Given the description of an element on the screen output the (x, y) to click on. 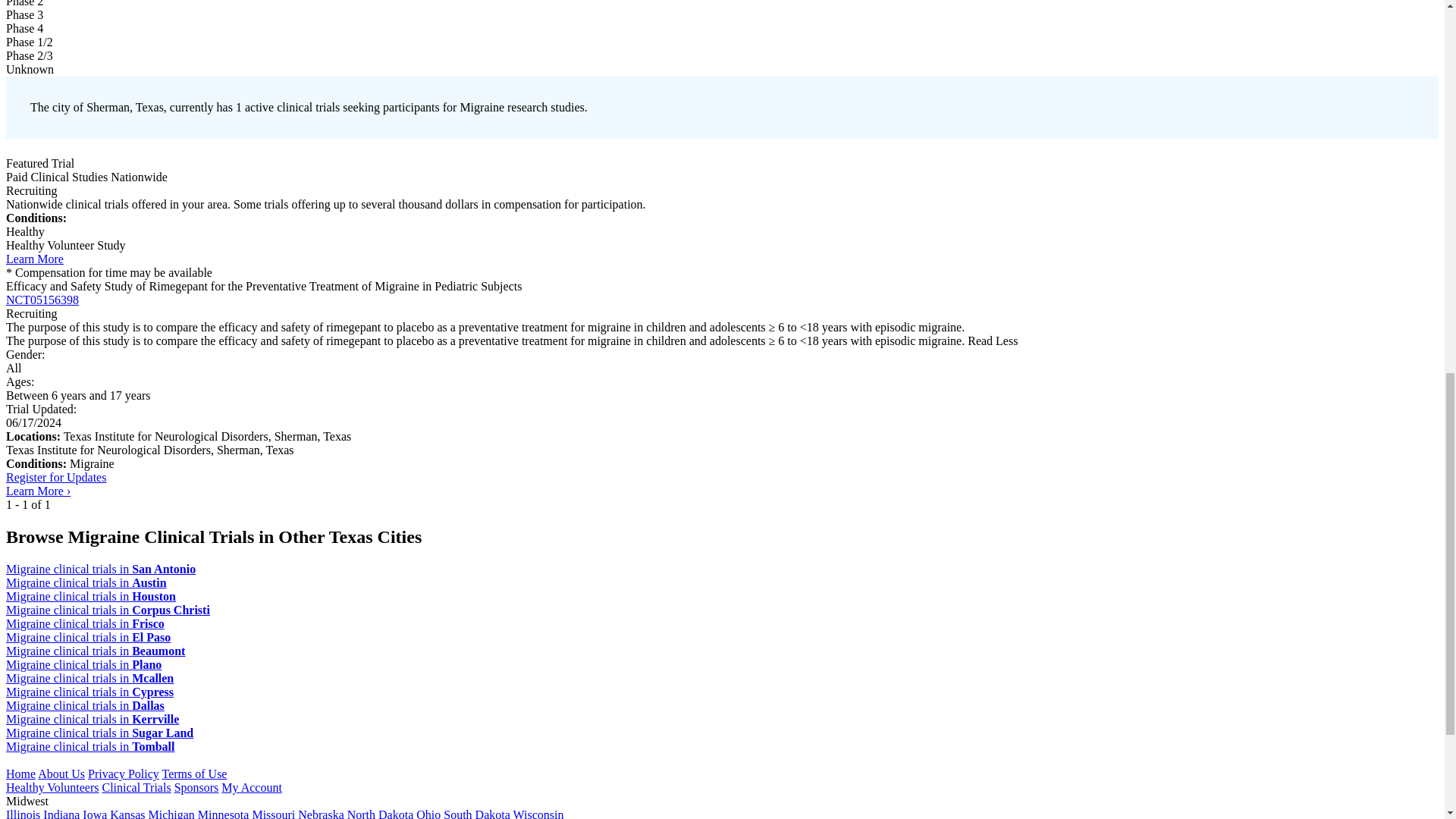
Register for Updates (55, 477)
Learn More (34, 258)
Migraine clinical trials in Corpus Christi (107, 609)
NCT05156398 (41, 299)
Migraine clinical trials in Frisco (84, 623)
Migraine clinical trials in Houston (90, 595)
Migraine clinical trials in Austin (86, 582)
Migraine clinical trials in Mcallen (89, 677)
Migraine clinical trials in San Antonio (100, 568)
Migraine clinical trials in Plano (83, 664)
